Given the description of an element on the screen output the (x, y) to click on. 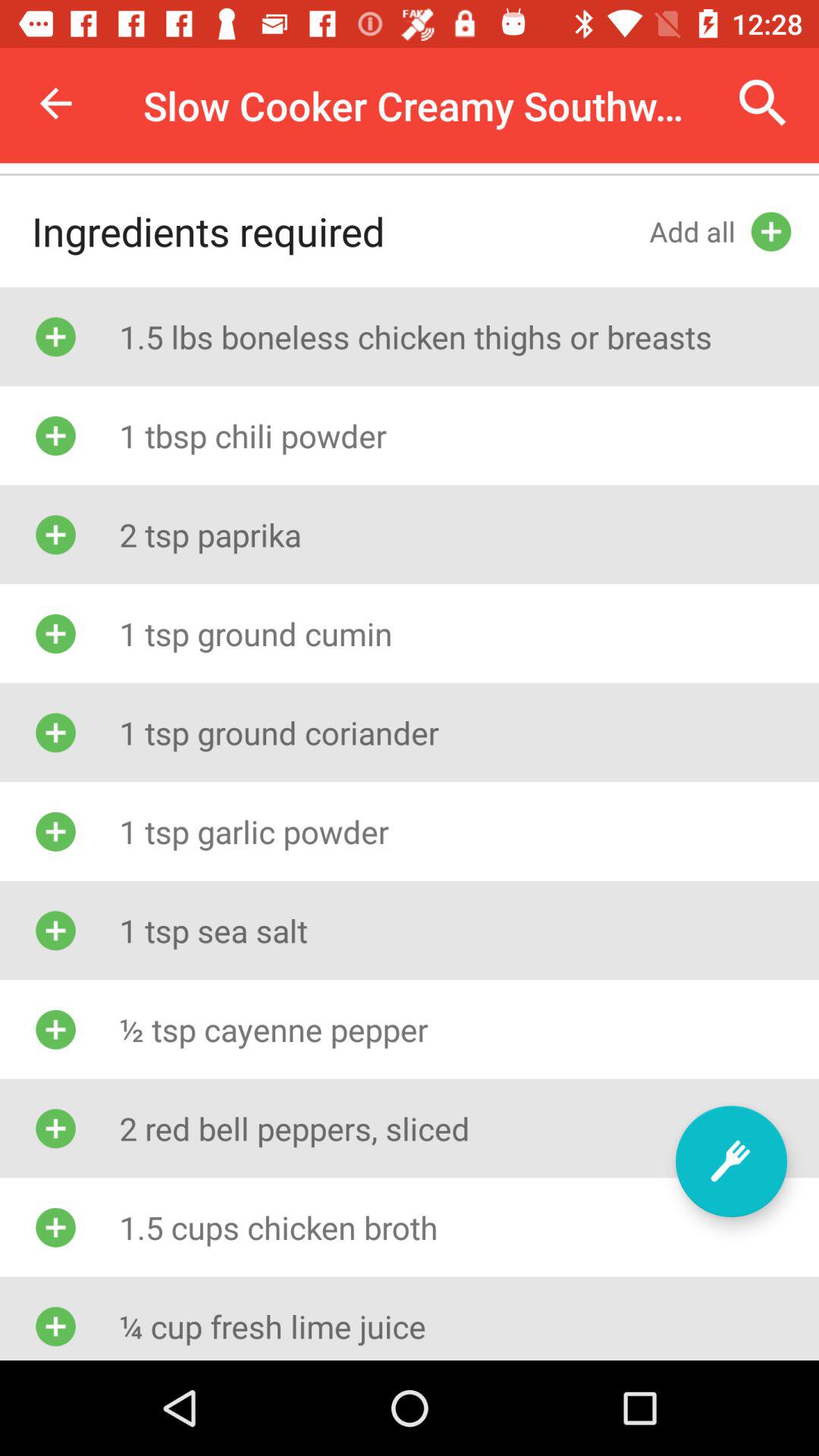
launch icon at the bottom right corner (731, 1161)
